Given the description of an element on the screen output the (x, y) to click on. 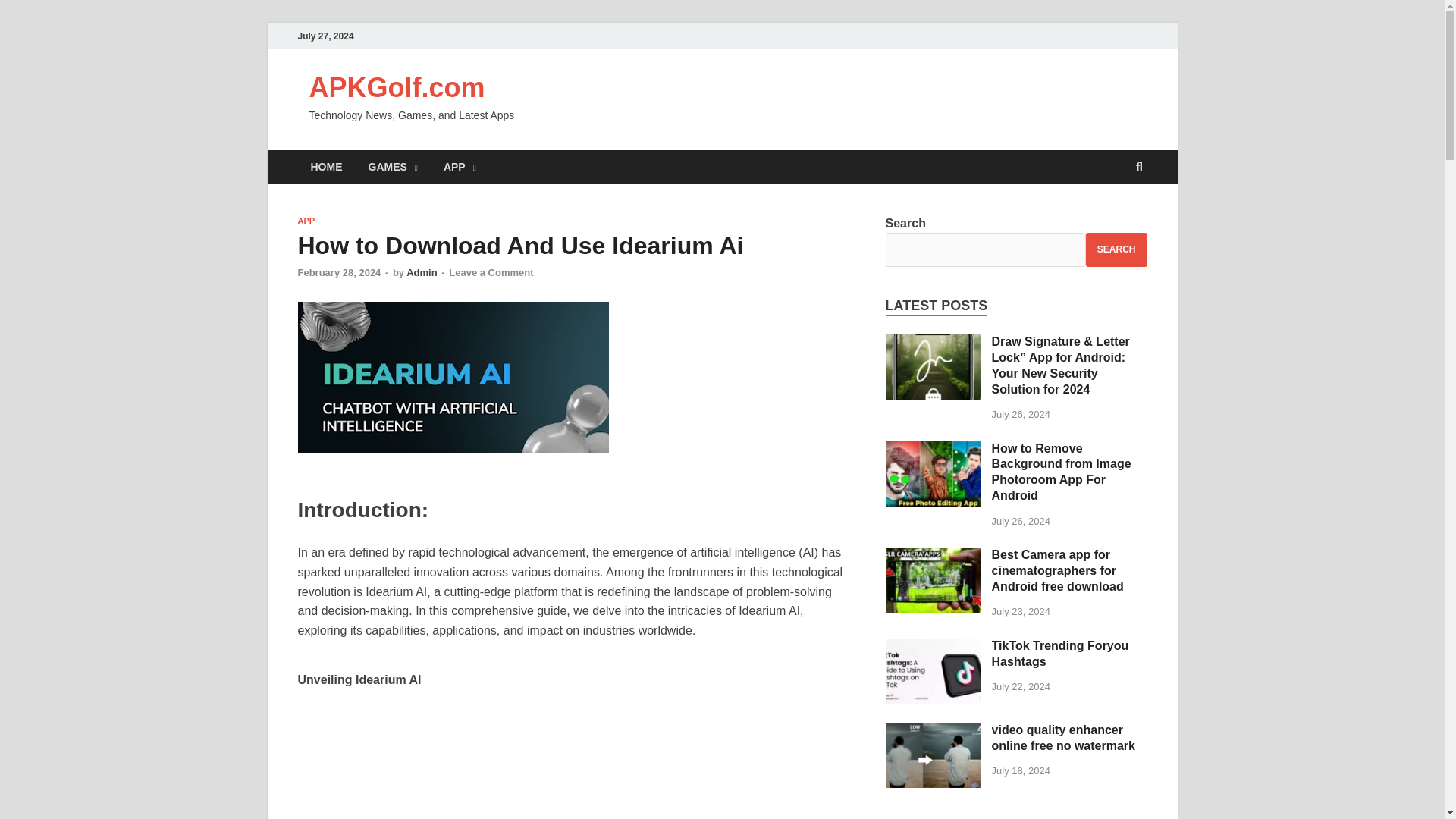
APKGolf.com (396, 87)
Leave a Comment (490, 272)
APP (305, 220)
HOME (326, 166)
APP (459, 166)
GAMES (392, 166)
February 28, 2024 (338, 272)
How to Download And Use Idearium Ai 1 (452, 377)
Admin (421, 272)
